Given the description of an element on the screen output the (x, y) to click on. 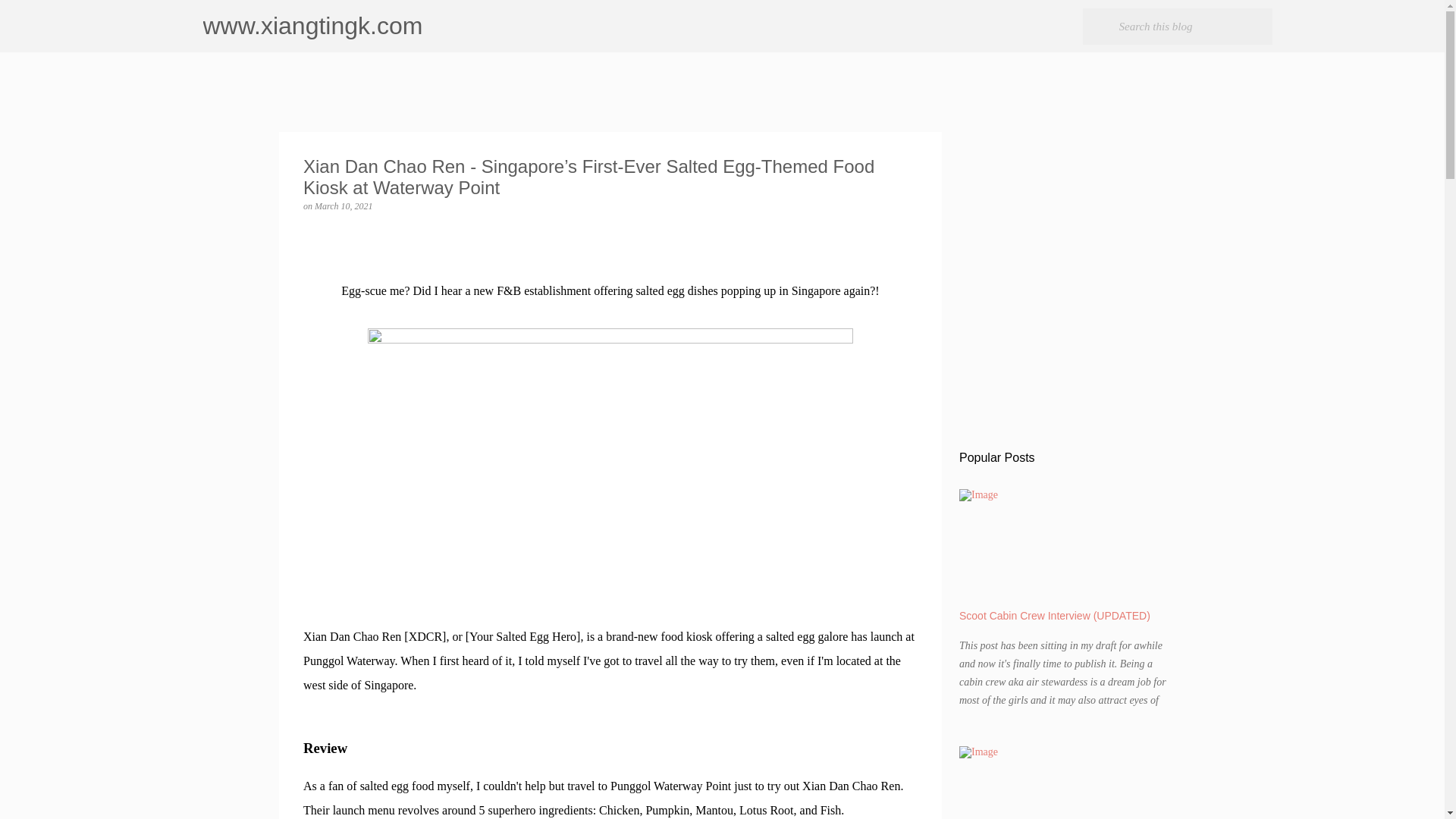
March 10, 2021 (343, 205)
permanent link (343, 205)
www.xiangtingk.com (313, 25)
